Given the description of an element on the screen output the (x, y) to click on. 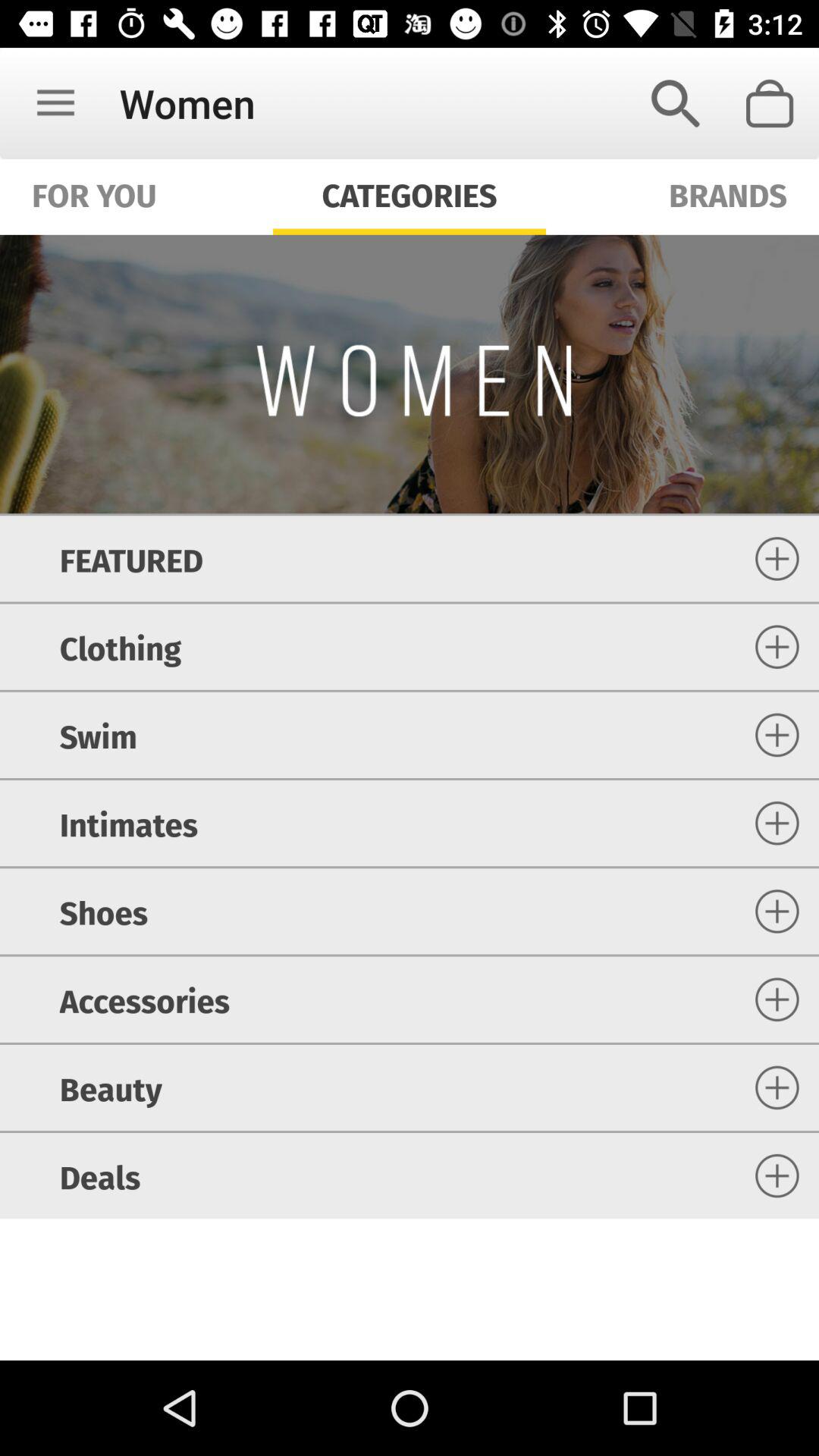
scroll to the clothing icon (120, 646)
